Given the description of an element on the screen output the (x, y) to click on. 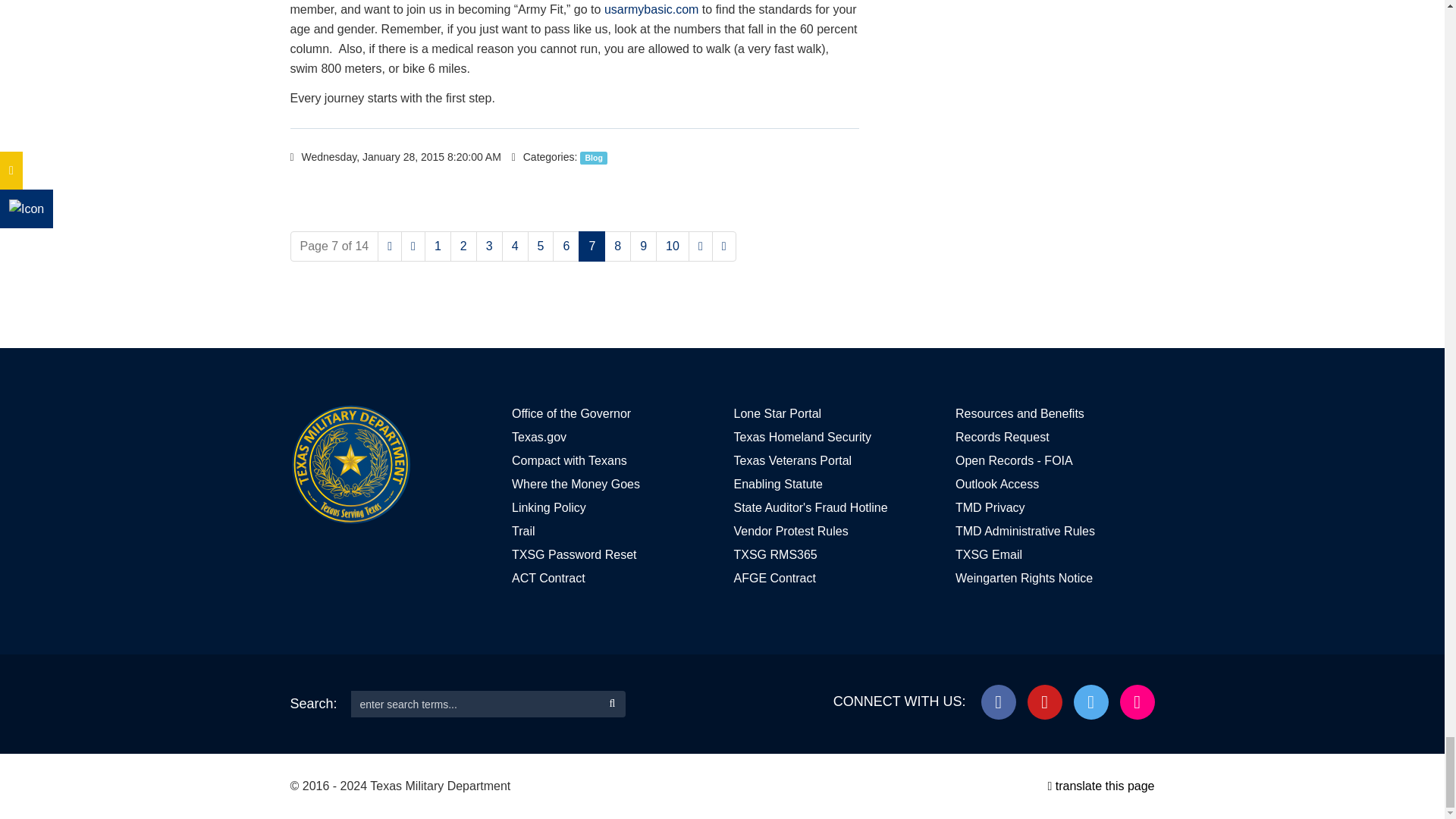
Site Search (474, 704)
Blog (593, 157)
Navigate to Page 10 (672, 245)
Follow us on twitter (1091, 701)
Follow us on facebook (998, 701)
usarmybasic.com (651, 9)
Follow us on youtube-play (1044, 701)
